Given the description of an element on the screen output the (x, y) to click on. 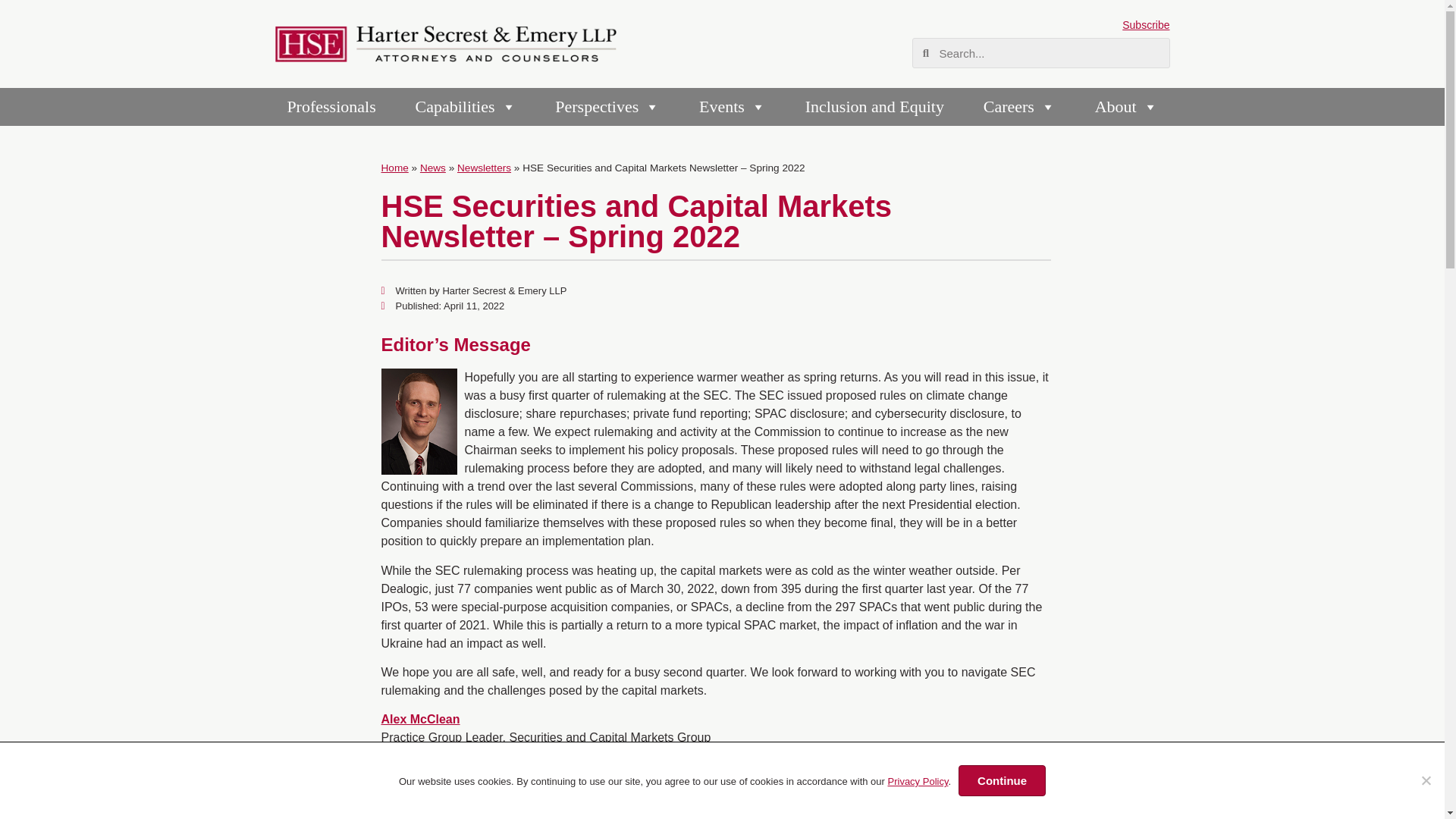
No (1425, 780)
Capabilities (465, 106)
Subscribe (1145, 24)
Professionals (330, 106)
